Given the description of an element on the screen output the (x, y) to click on. 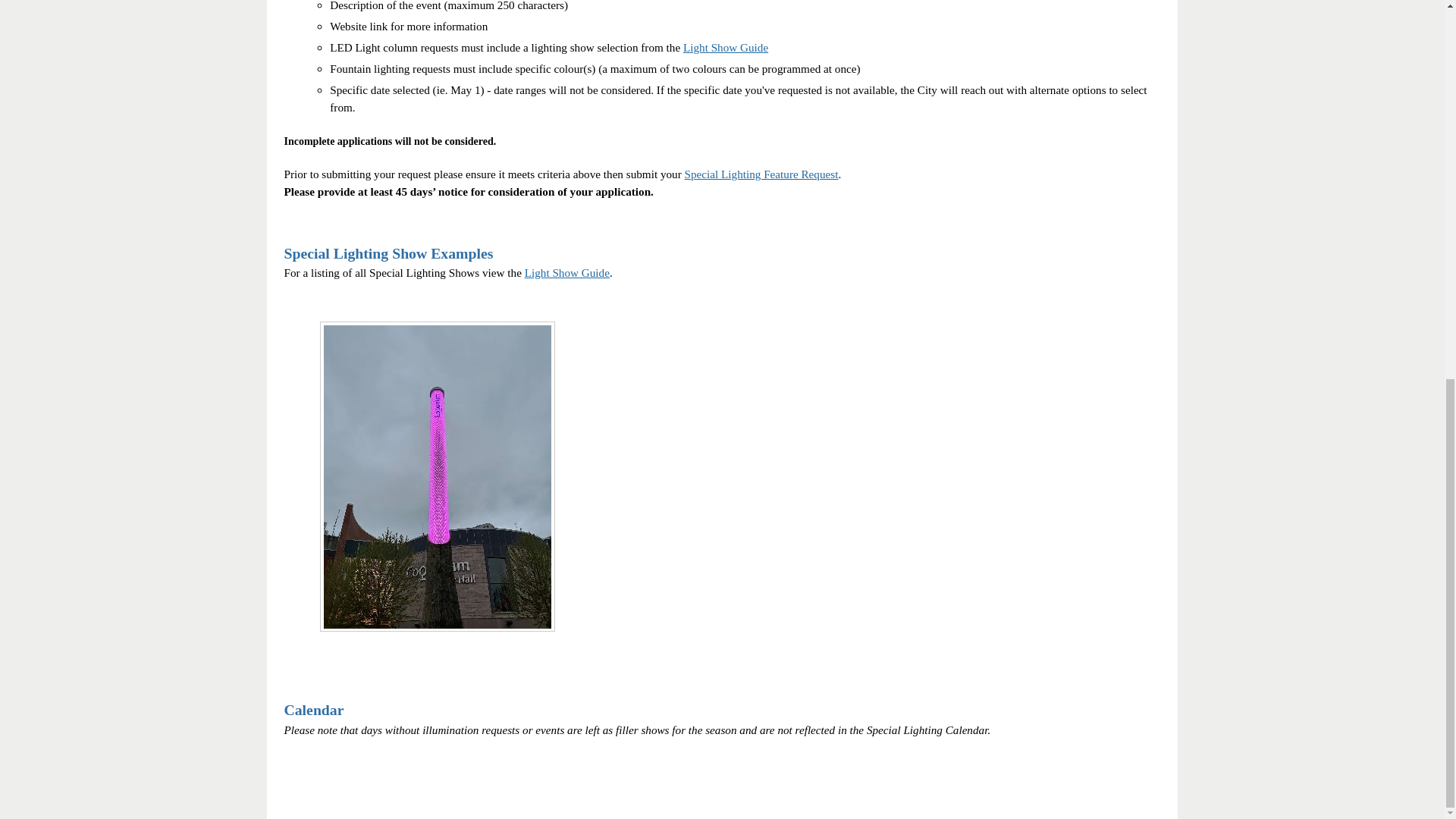
Special Lighting Feature Request (761, 173)
Light Show Guide (567, 272)
Light Show Guide (725, 47)
